Given the description of an element on the screen output the (x, y) to click on. 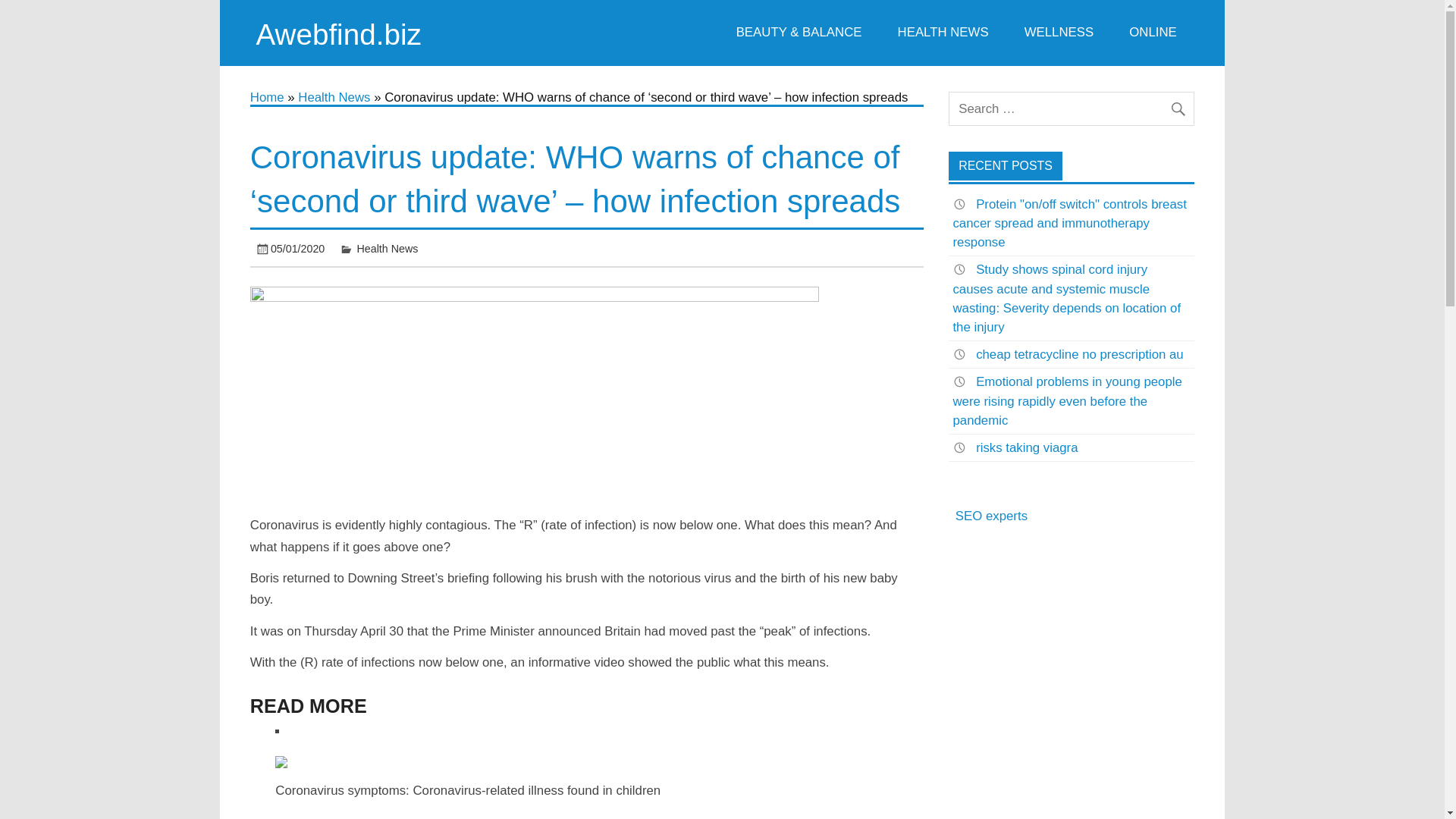
Home (266, 97)
ONLINE (1153, 33)
Health News (333, 97)
Awebfind.biz (338, 34)
cheap tetracycline no prescription au (1079, 354)
10:05 am (297, 248)
risks taking viagra (1026, 447)
SEO experts (991, 515)
